Given the description of an element on the screen output the (x, y) to click on. 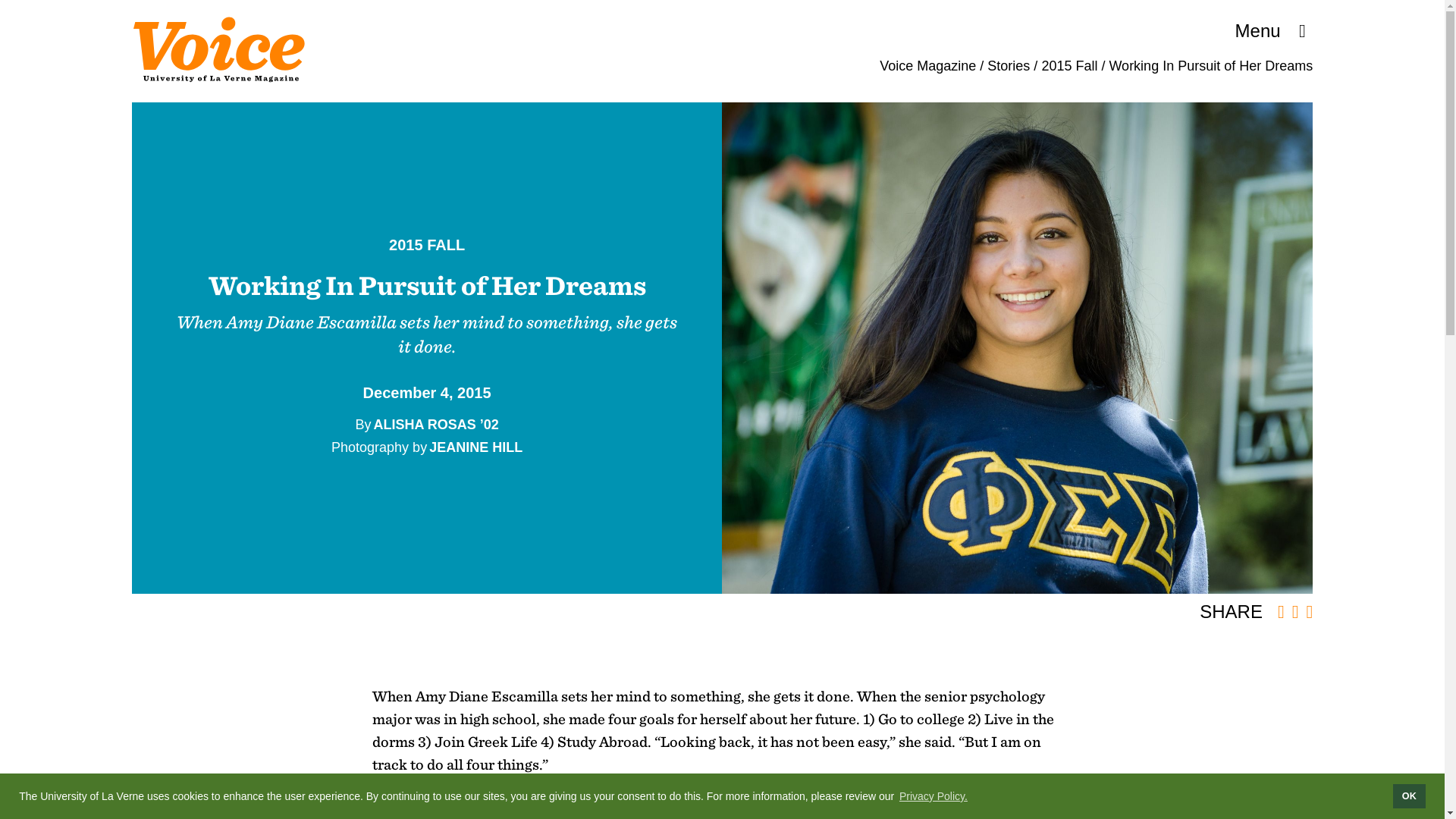
View all posts assigned to 2015 Fall (426, 244)
Stories (1008, 65)
Voice Magazine (927, 65)
2015 FALL (426, 244)
Privacy Policy. (932, 796)
OK (1409, 795)
2015 Fall (1069, 65)
